Given the description of an element on the screen output the (x, y) to click on. 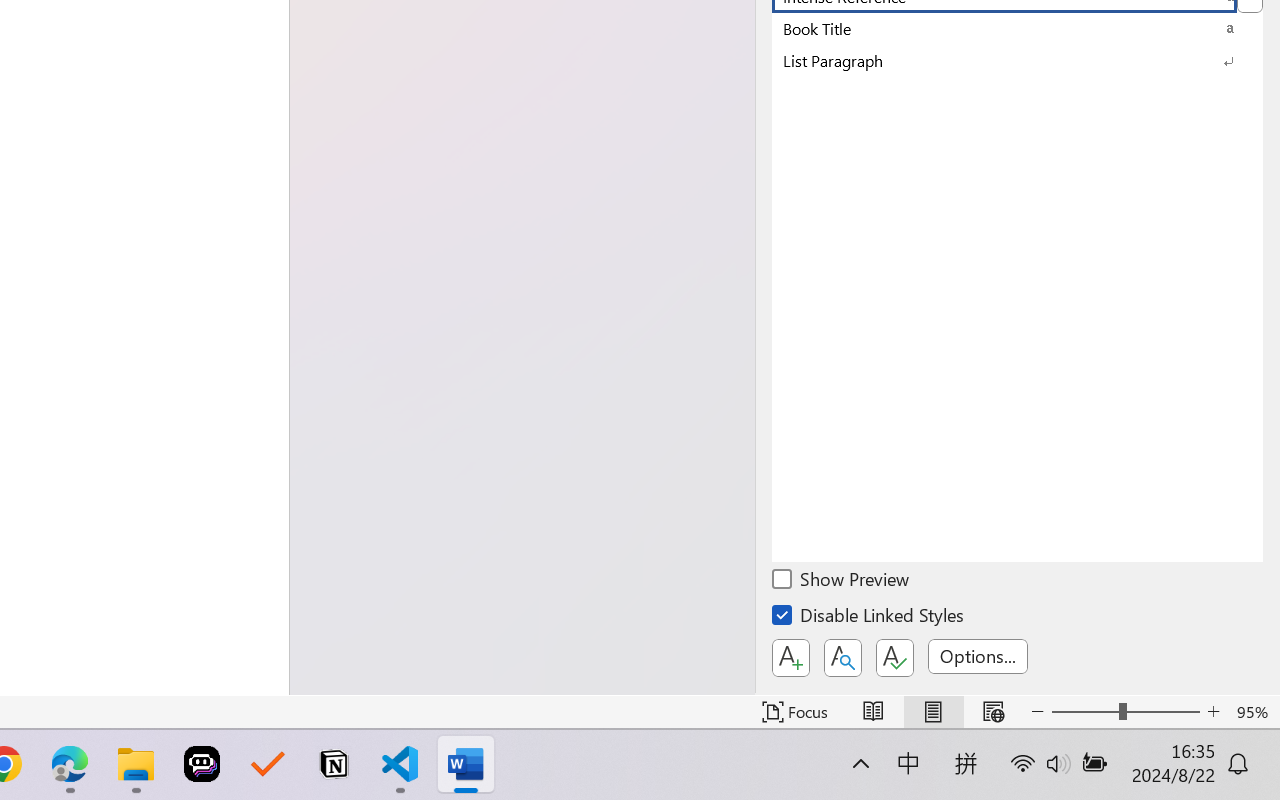
List Paragraph (1017, 60)
Options... (977, 656)
Disable Linked Styles (869, 618)
Zoom 95% (1253, 712)
Class: NetUIButton (894, 657)
Show Preview (841, 582)
Book Title (1017, 28)
